Given the description of an element on the screen output the (x, y) to click on. 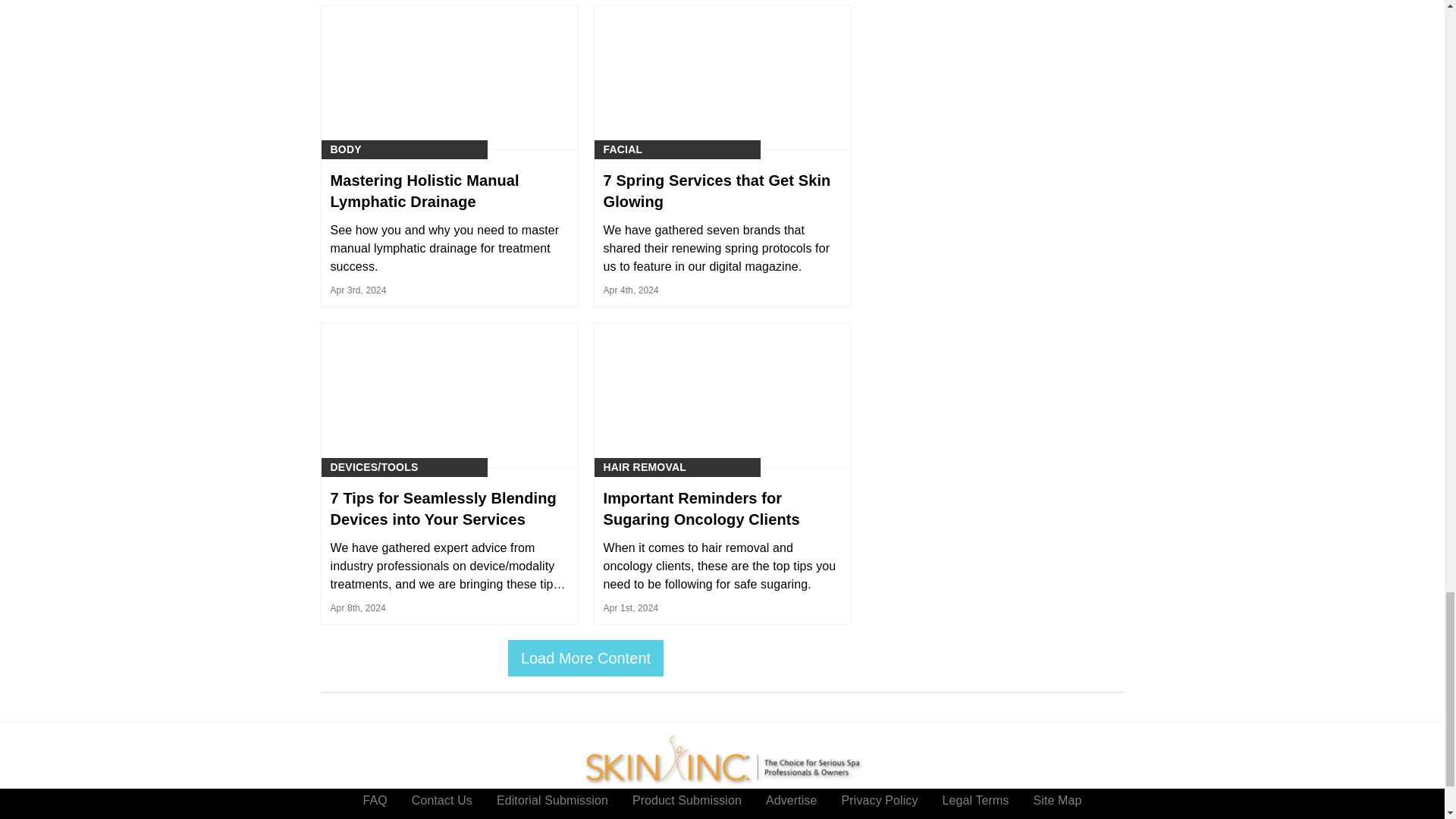
Facebook icon (639, 812)
Twitter X icon (803, 812)
Pinterest icon (748, 812)
Instagram icon (694, 812)
